Given the description of an element on the screen output the (x, y) to click on. 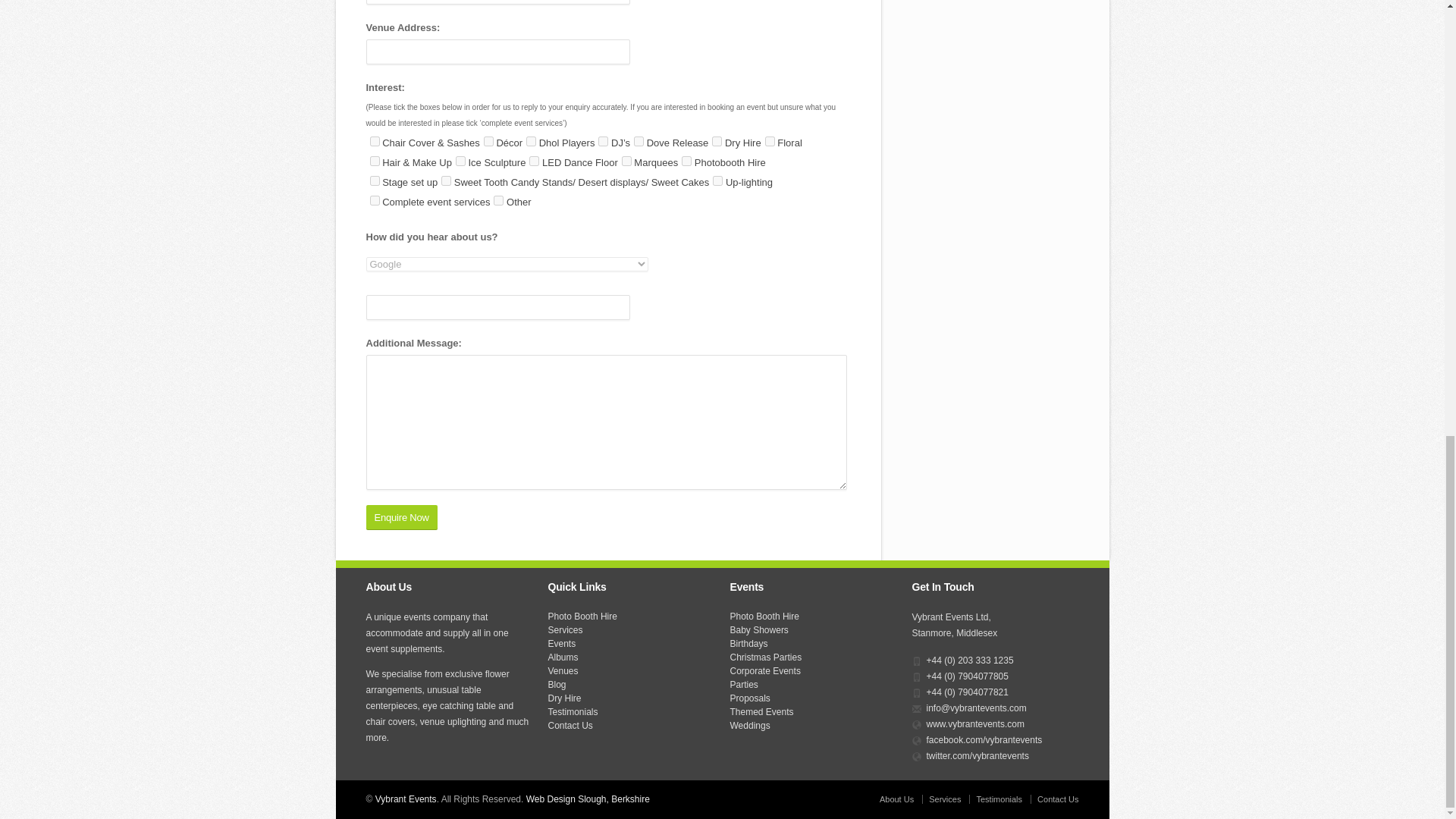
Dove Release (638, 141)
Dhol Players (530, 141)
Dry Hire (716, 141)
Marquees (626, 161)
LED Dance Floor (533, 161)
Photobooth Hire (686, 161)
Floral (769, 141)
Stage set up (374, 180)
Ice Sculpture (460, 161)
